Given the description of an element on the screen output the (x, y) to click on. 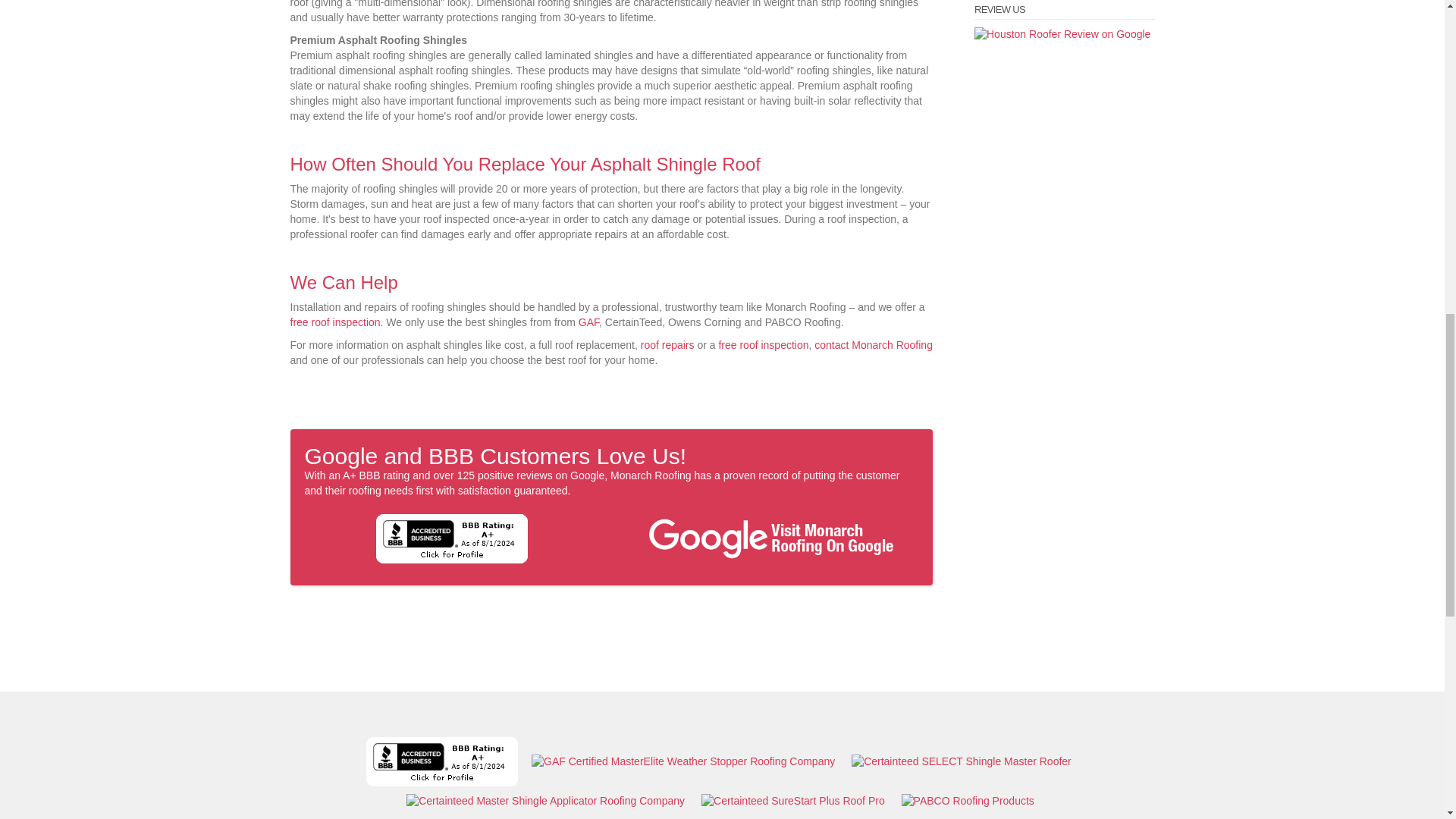
GAF Factory Certified MasterElite (588, 322)
Monarch Roofing, LLC BBB Business Review (451, 537)
roof repairs (667, 345)
free roof inspection (334, 322)
free roof inspection (762, 345)
GAF (588, 322)
Contact Monarch Roofing (873, 345)
Monarch Roofing on Google (770, 537)
roof repairs (667, 345)
free roof inspection (762, 345)
contact Monarch Roofing (873, 345)
free roof inspection (334, 322)
